Given the description of an element on the screen output the (x, y) to click on. 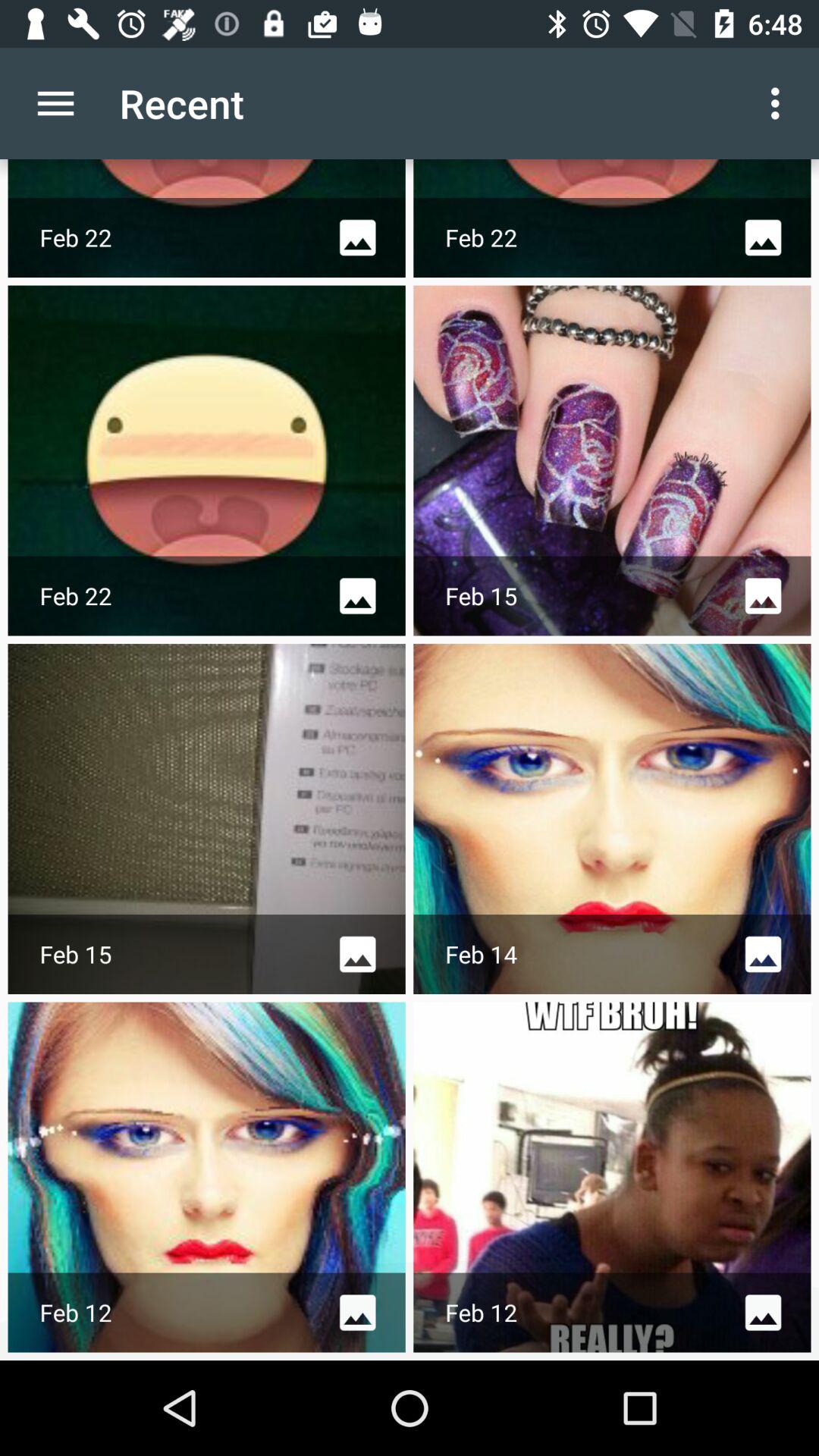
click item to the left of the recent item (55, 103)
